Given the description of an element on the screen output the (x, y) to click on. 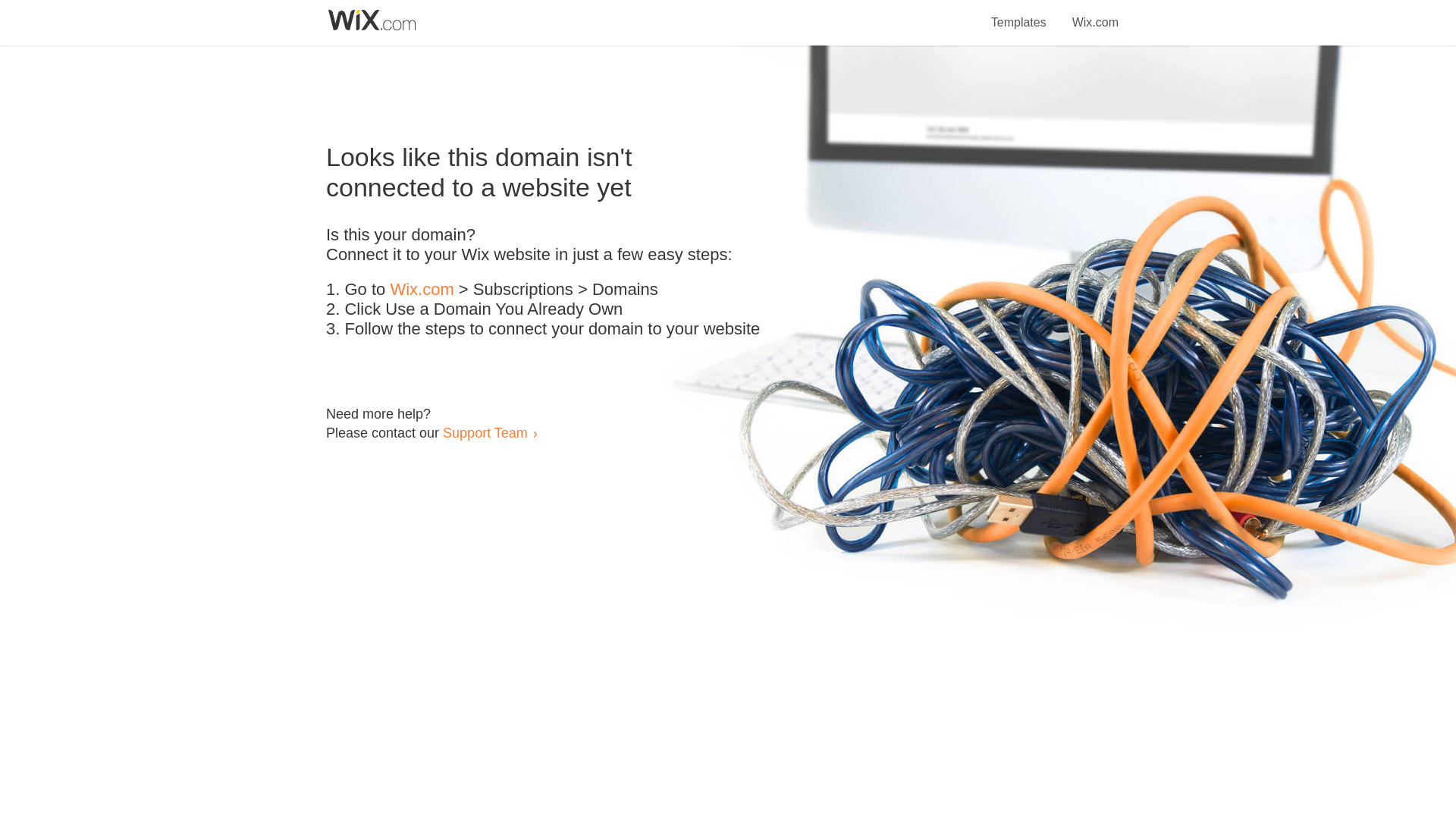
Wix.com (1095, 14)
Wix.com (421, 289)
Templates (1018, 14)
Support Team (484, 432)
